Given the description of an element on the screen output the (x, y) to click on. 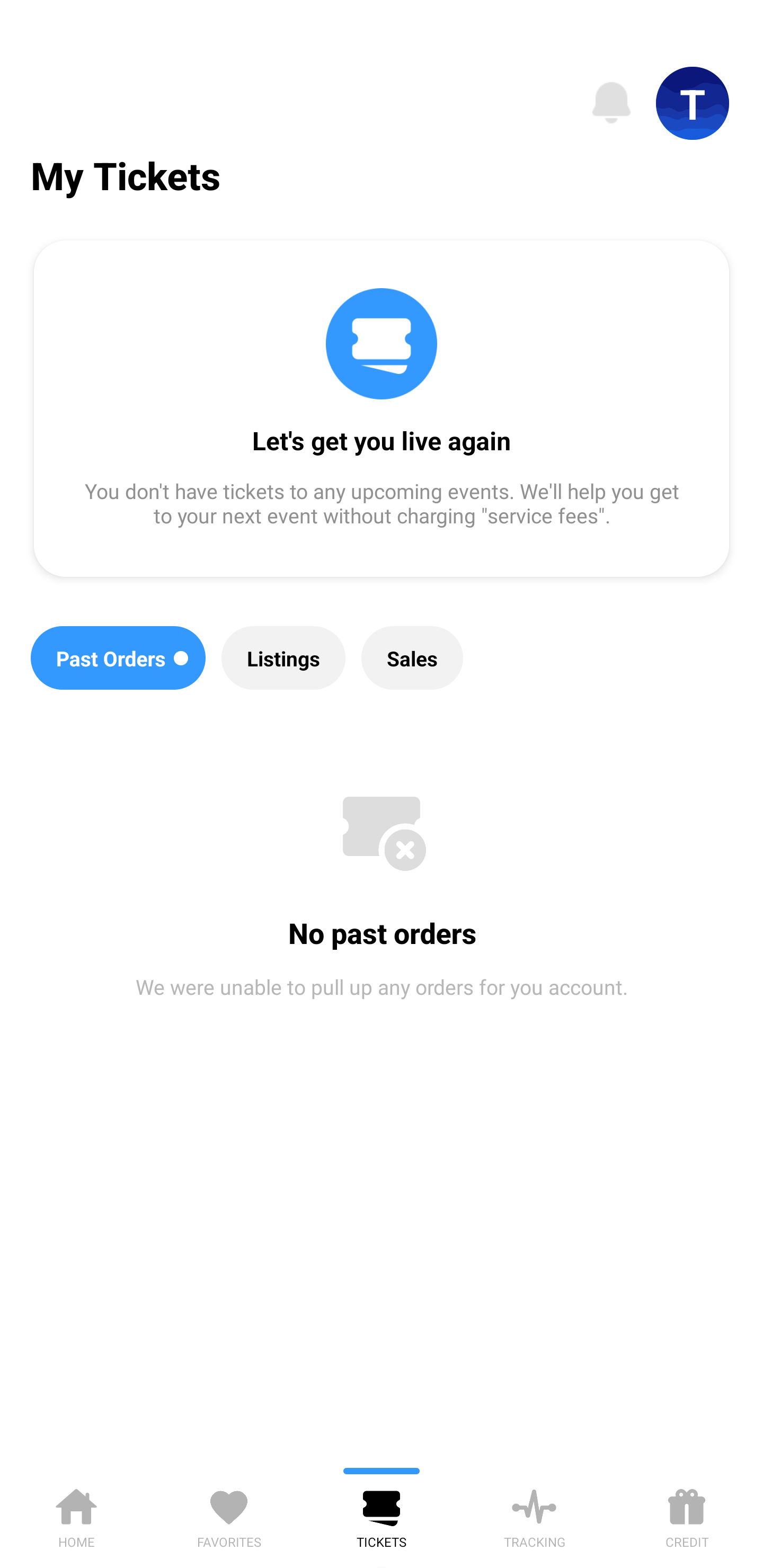
T (692, 103)
Past Orders (117, 657)
Listings (283, 657)
Sales (412, 657)
HOME (76, 1515)
FAVORITES (228, 1515)
TICKETS (381, 1515)
TRACKING (533, 1515)
CREDIT (686, 1515)
